Given the description of an element on the screen output the (x, y) to click on. 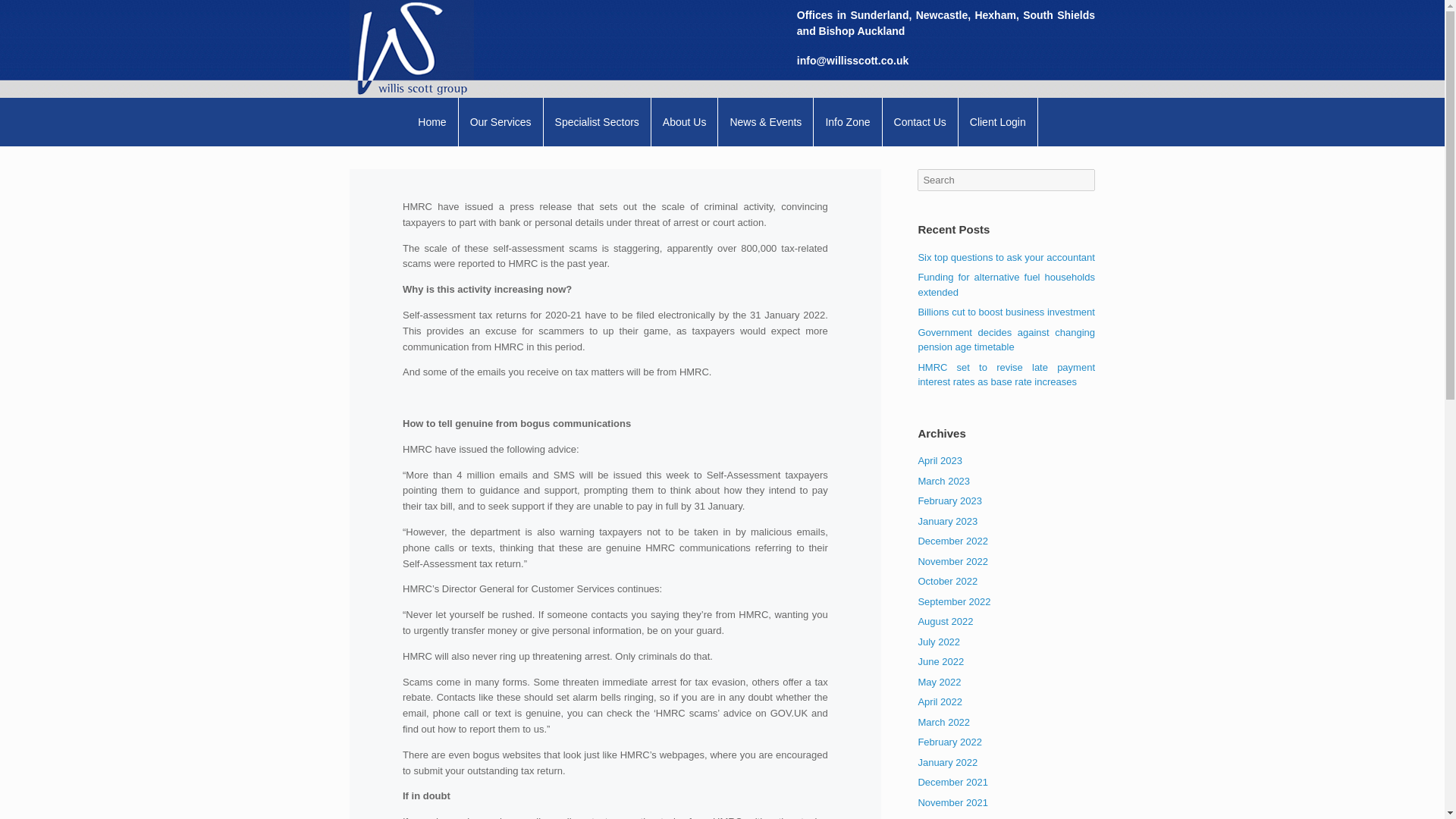
Contact Us (920, 121)
Our Services (500, 121)
About Us (684, 121)
Client Login (998, 121)
Specialist Sectors (596, 121)
Info Zone (847, 121)
Home (432, 121)
